Given the description of an element on the screen output the (x, y) to click on. 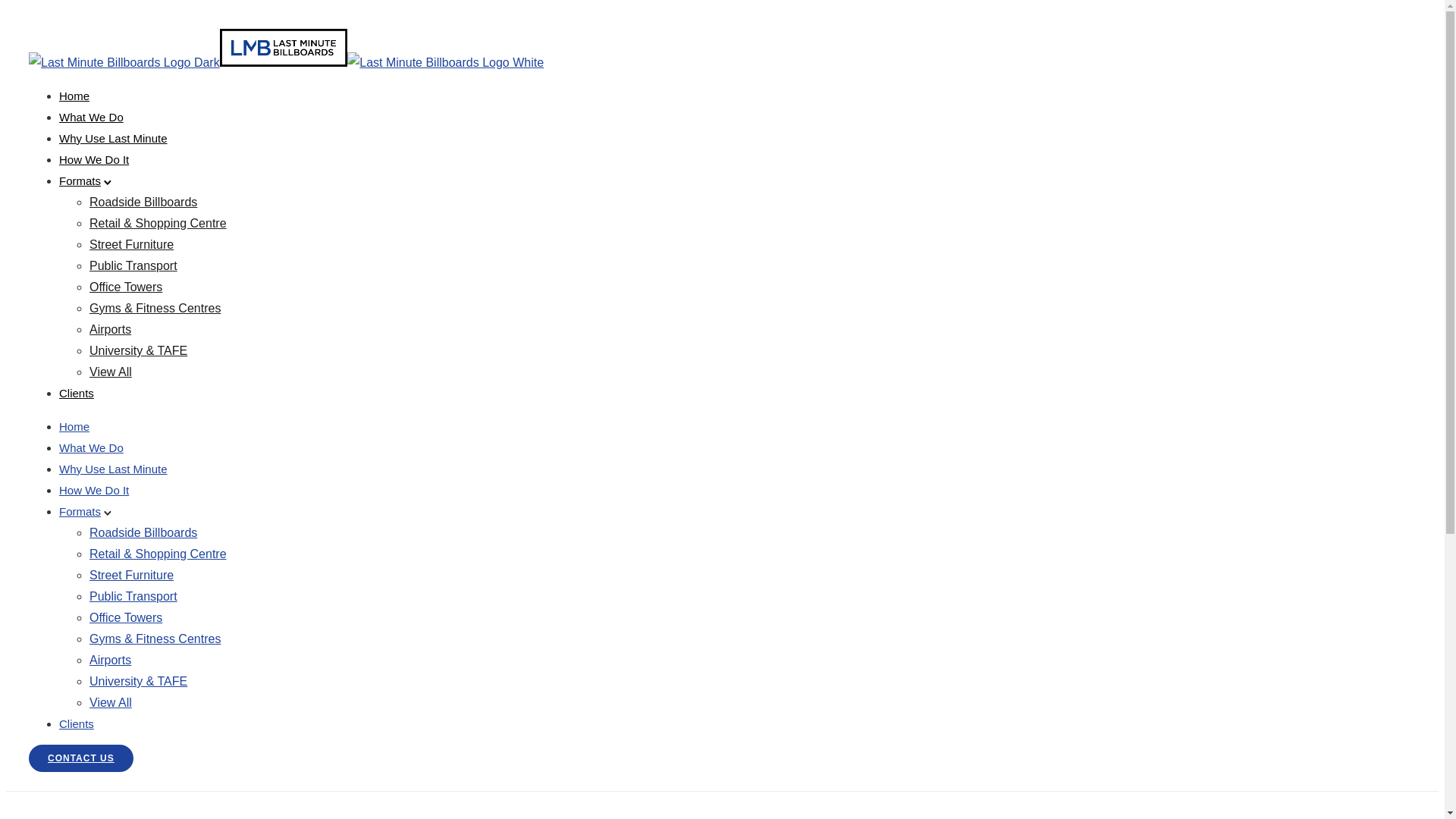
Public Transport Element type: text (133, 265)
Why Use Last Minute Element type: text (113, 137)
Home Element type: text (74, 426)
What We Do Element type: text (91, 116)
Formats Element type: text (79, 511)
Street Furniture Element type: text (131, 574)
How We Do It Element type: text (93, 159)
Office Towers Element type: text (125, 286)
How We Do It Element type: text (93, 489)
CONTACT US Element type: text (80, 757)
Why Use Last Minute Element type: text (113, 468)
Airports Element type: text (110, 329)
Home Element type: text (74, 95)
Public Transport Element type: text (133, 595)
Retail & Shopping Centre Element type: text (157, 222)
Roadside Billboards Element type: text (143, 532)
View All Element type: text (110, 371)
Retail & Shopping Centre Element type: text (157, 553)
Formats Element type: text (79, 180)
University & TAFE Element type: text (138, 680)
Gyms & Fitness Centres Element type: text (154, 307)
Airports Element type: text (110, 659)
University & TAFE Element type: text (138, 350)
What We Do Element type: text (91, 447)
Roadside Billboards Element type: text (143, 201)
Gyms & Fitness Centres Element type: text (154, 638)
Office Towers Element type: text (125, 617)
View All Element type: text (110, 702)
Street Furniture Element type: text (131, 244)
Clients Element type: text (76, 723)
Clients Element type: text (76, 392)
